Given the description of an element on the screen output the (x, y) to click on. 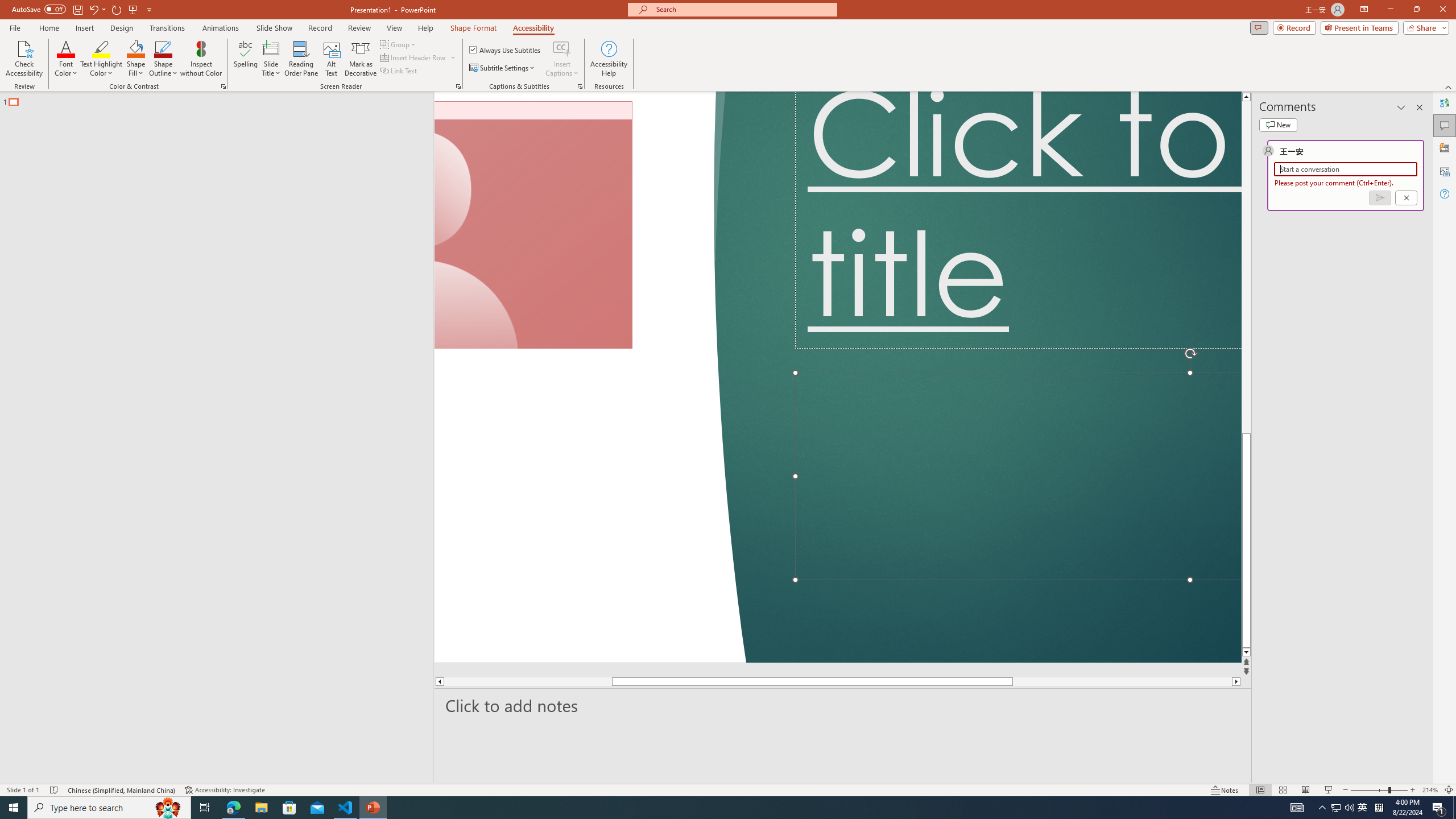
Screen Reader (458, 85)
Link Text (399, 69)
Accessibility Help (608, 58)
Shape Fill Orange, Accent 2 (135, 48)
New comment (1278, 124)
Notes  (1225, 790)
Translator (1444, 102)
Decorative Locked (589, 376)
Line down (1245, 652)
